Given the description of an element on the screen output the (x, y) to click on. 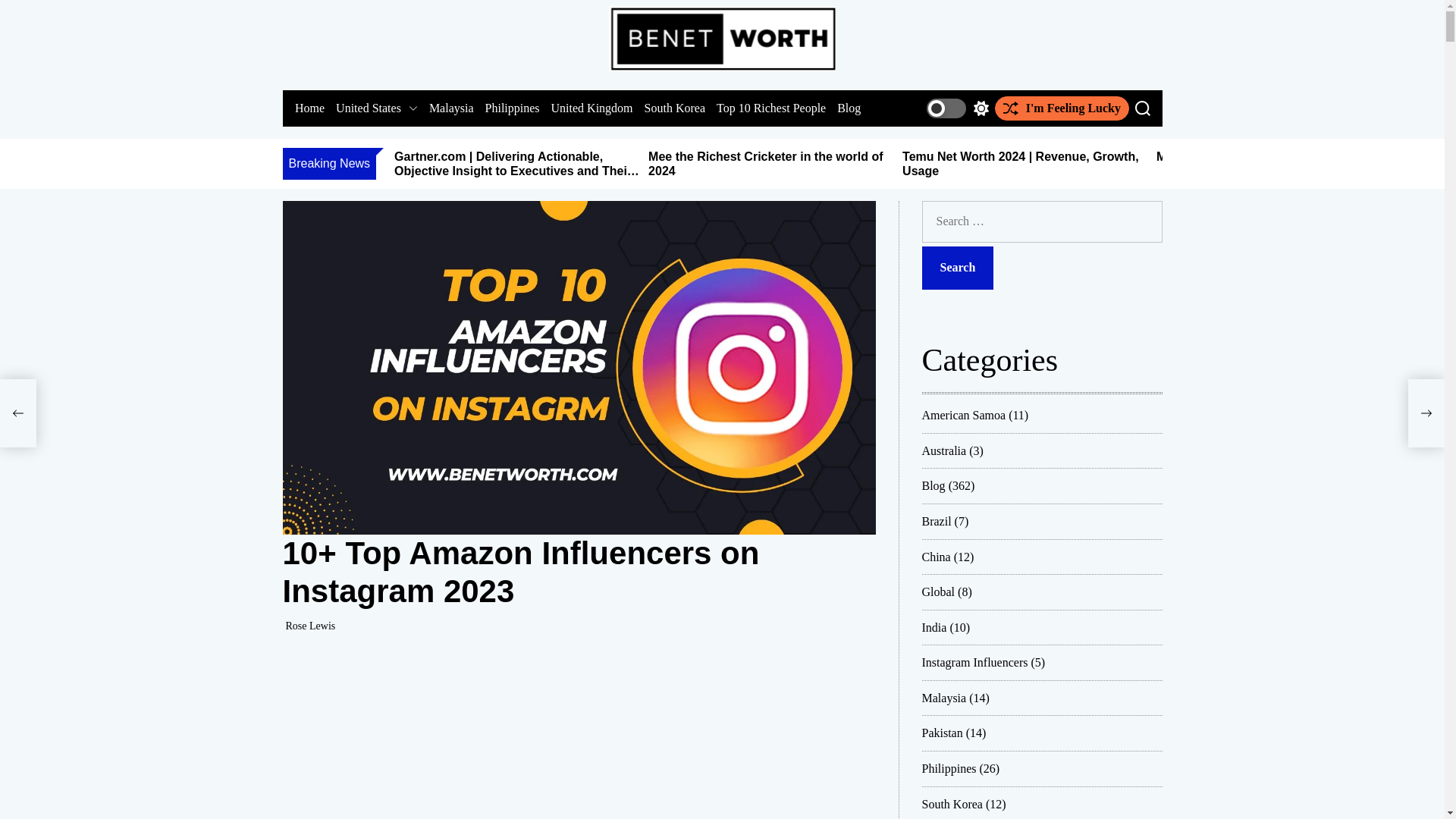
Philippines (511, 108)
Top 10 Richest People (770, 108)
Rose Lewis (309, 625)
United Kingdom (590, 108)
Search (957, 267)
South Korea (673, 108)
Mee the Richest Cricketer in the world of 2024 (764, 163)
United States (376, 108)
Malaysia (450, 108)
Morgan and Morgan Net Worth 2024 (1260, 155)
Switch color mode (957, 107)
Search (957, 267)
Home (308, 108)
Blog (848, 108)
I'm Feeling Lucky (1061, 108)
